Given the description of an element on the screen output the (x, y) to click on. 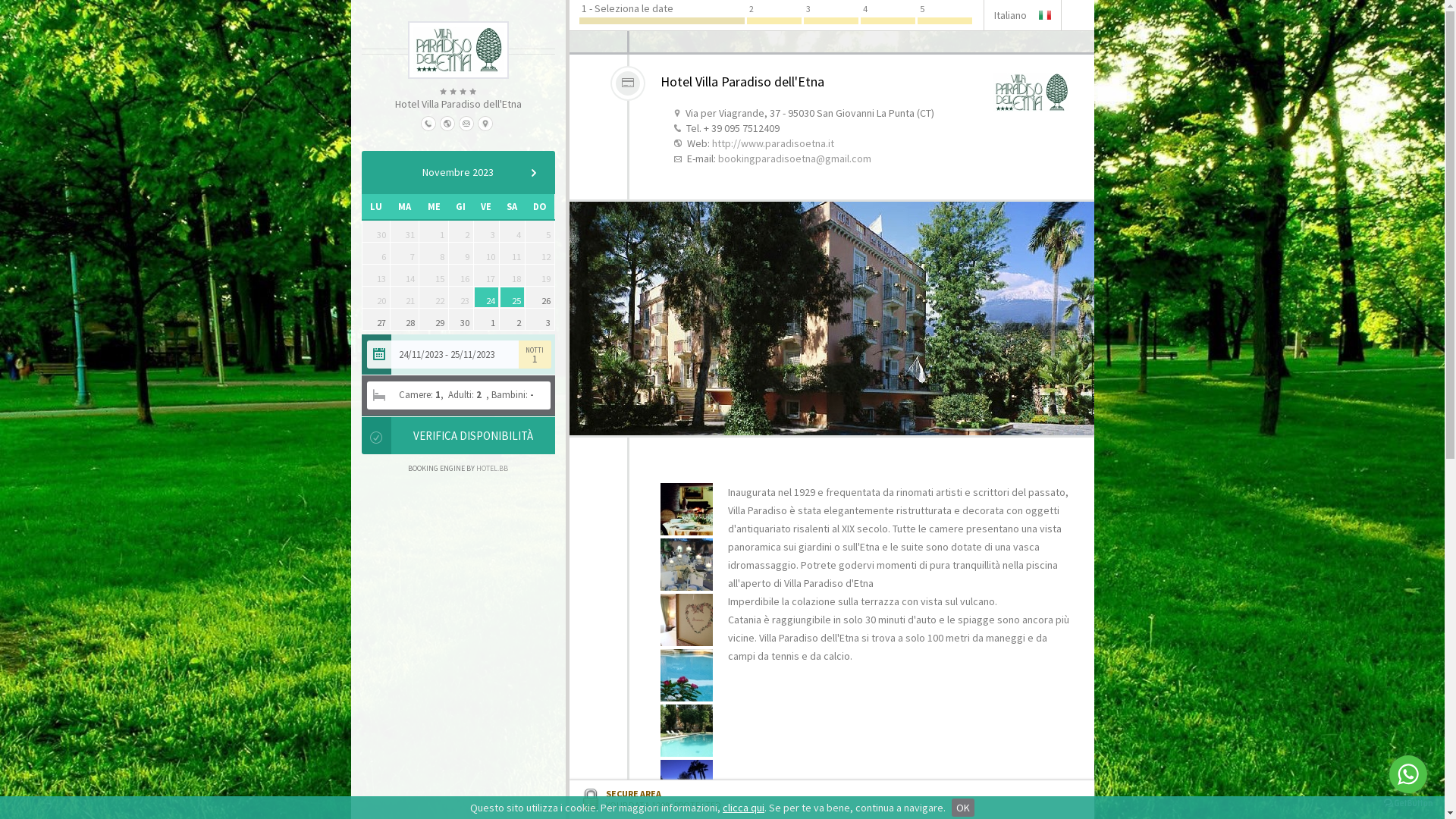
HOTEL.BB Element type: text (492, 468)
bookingparadisoetna@gmail.com Element type: text (793, 158)
Succ> Element type: text (532, 172)
24 Element type: text (486, 297)
3 Element type: text (539, 319)
OK Element type: text (962, 807)
clicca qui Element type: text (743, 807)
<Prec Element type: text (382, 172)
27 Element type: text (375, 319)
29 Element type: text (433, 319)
28 Element type: text (404, 319)
2 Element type: text (512, 319)
30 Element type: text (460, 319)
25 Element type: text (512, 297)
26 Element type: text (539, 297)
http://www.paradisoetna.it Element type: text (772, 143)
1 Element type: text (486, 319)
